Given the description of an element on the screen output the (x, y) to click on. 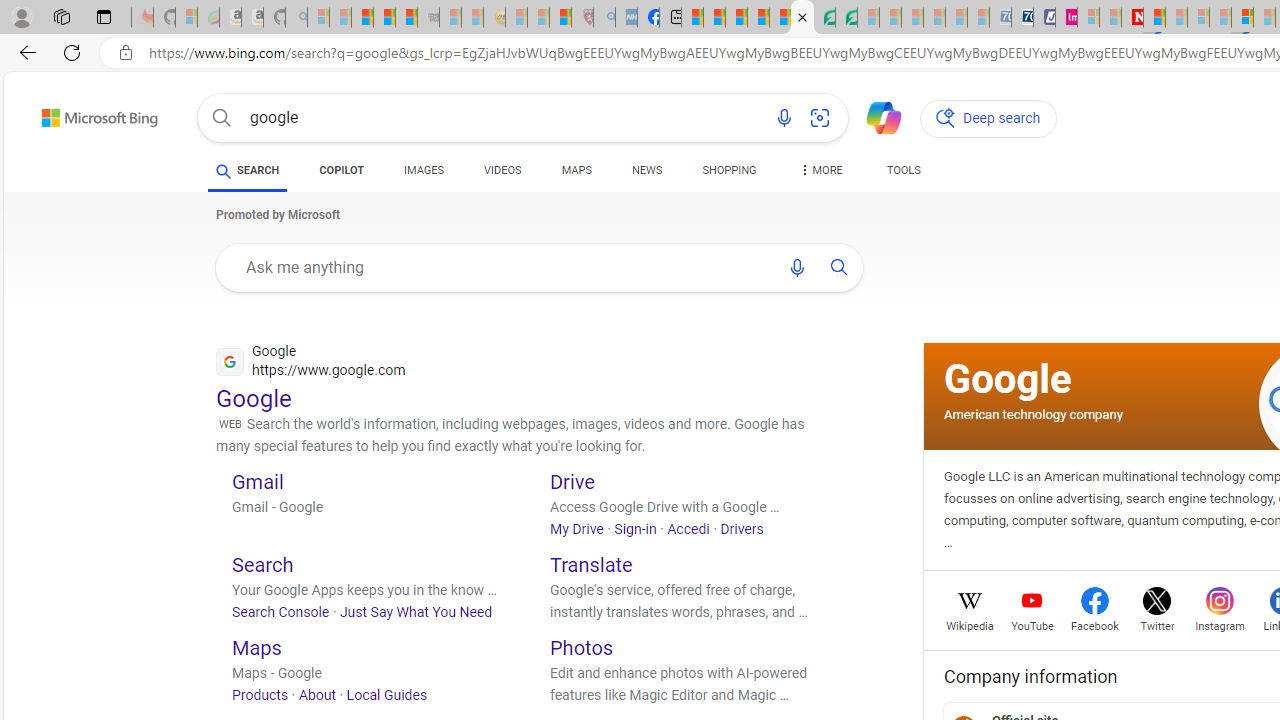
Search Console (280, 611)
NEWS (646, 170)
Jobs - lastminute.com Investor Portal (1066, 17)
Pets - MSN (758, 17)
SEARCH (247, 170)
COPILOT (341, 170)
